Given the description of an element on the screen output the (x, y) to click on. 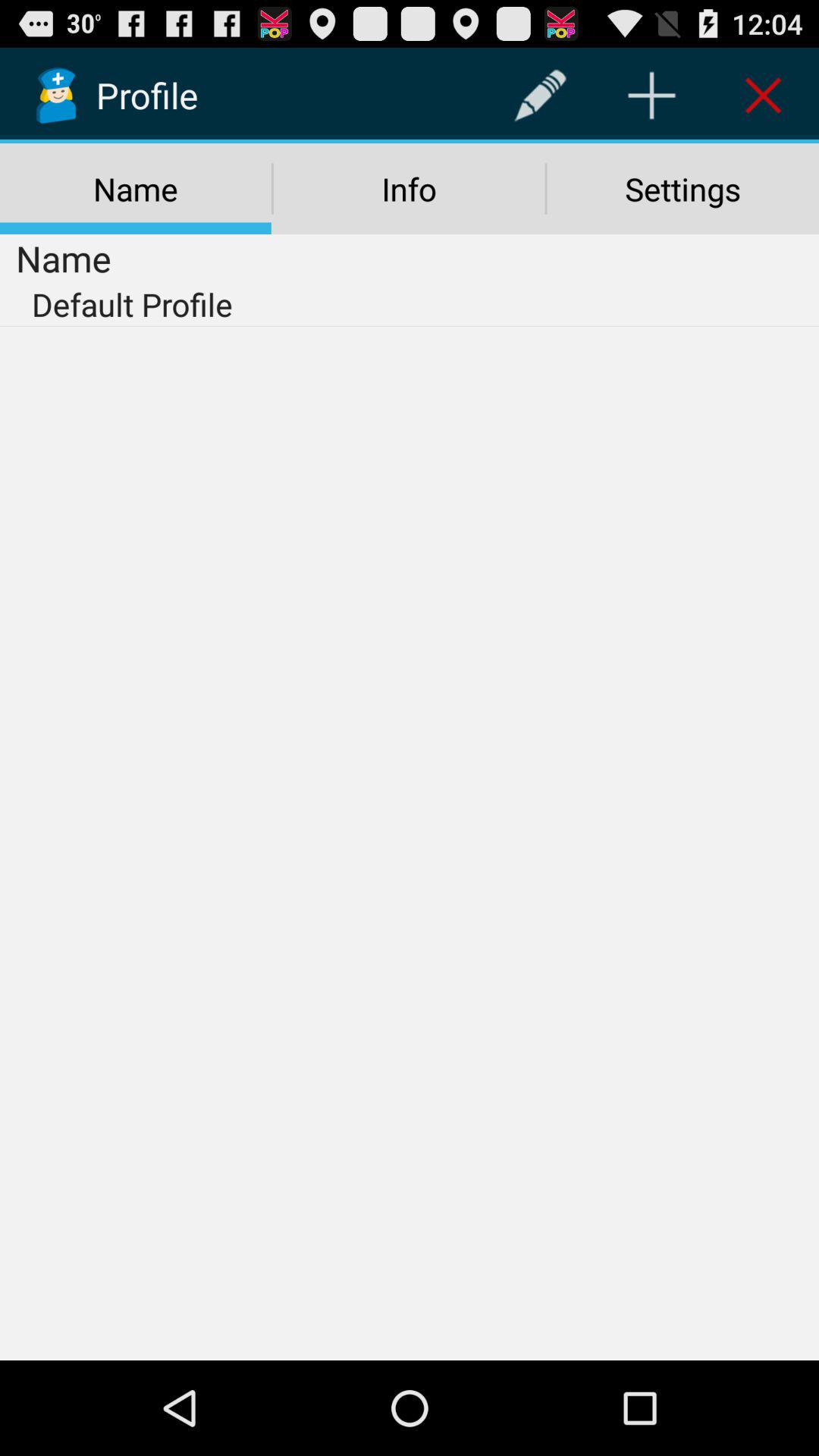
scroll until the info icon (408, 188)
